Given the description of an element on the screen output the (x, y) to click on. 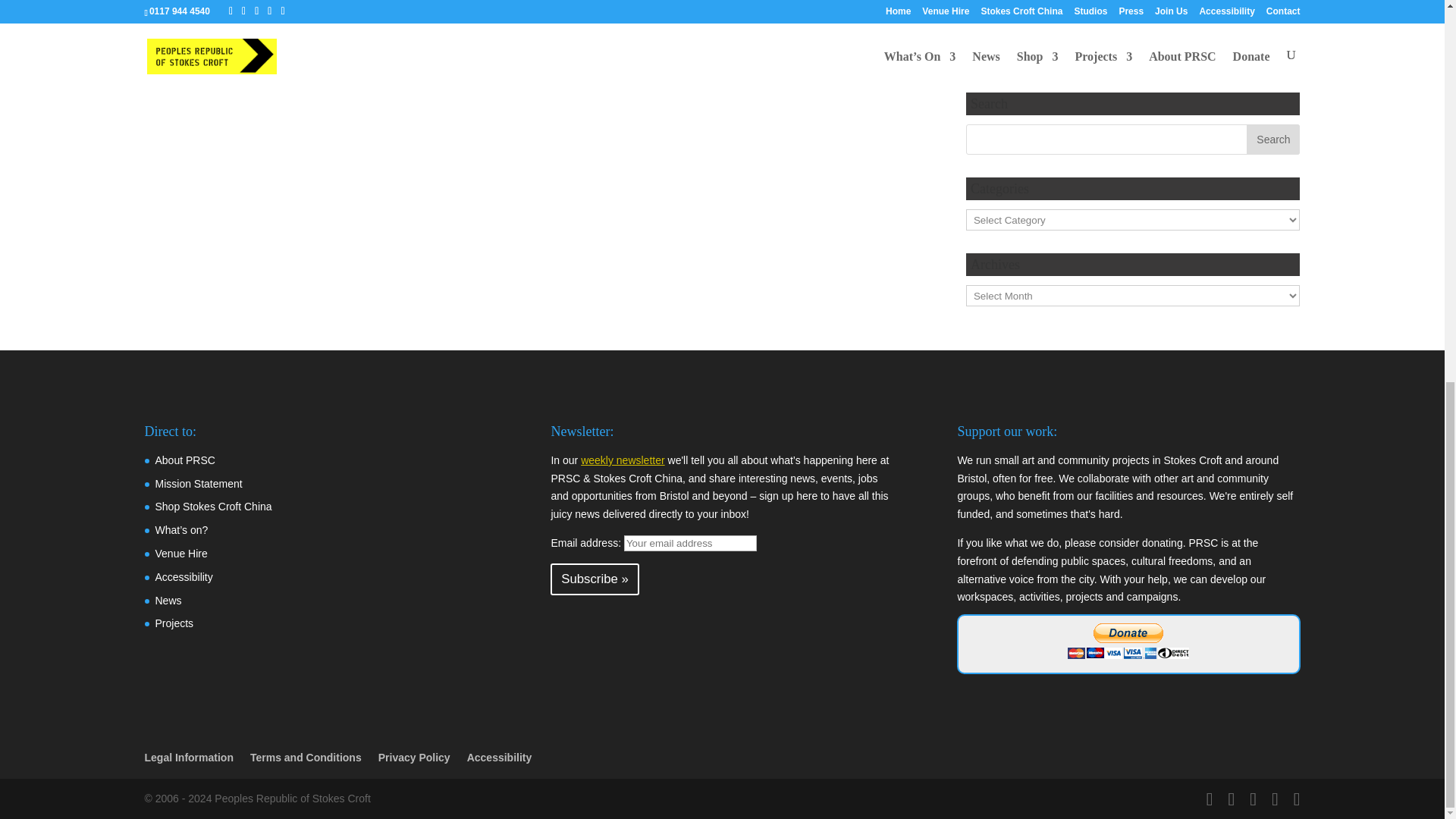
PayPal - The safer, easier way to pay online! (1132, 27)
Search (1273, 139)
PayPal - The safer, easier way to pay online! (1128, 641)
